Given the description of an element on the screen output the (x, y) to click on. 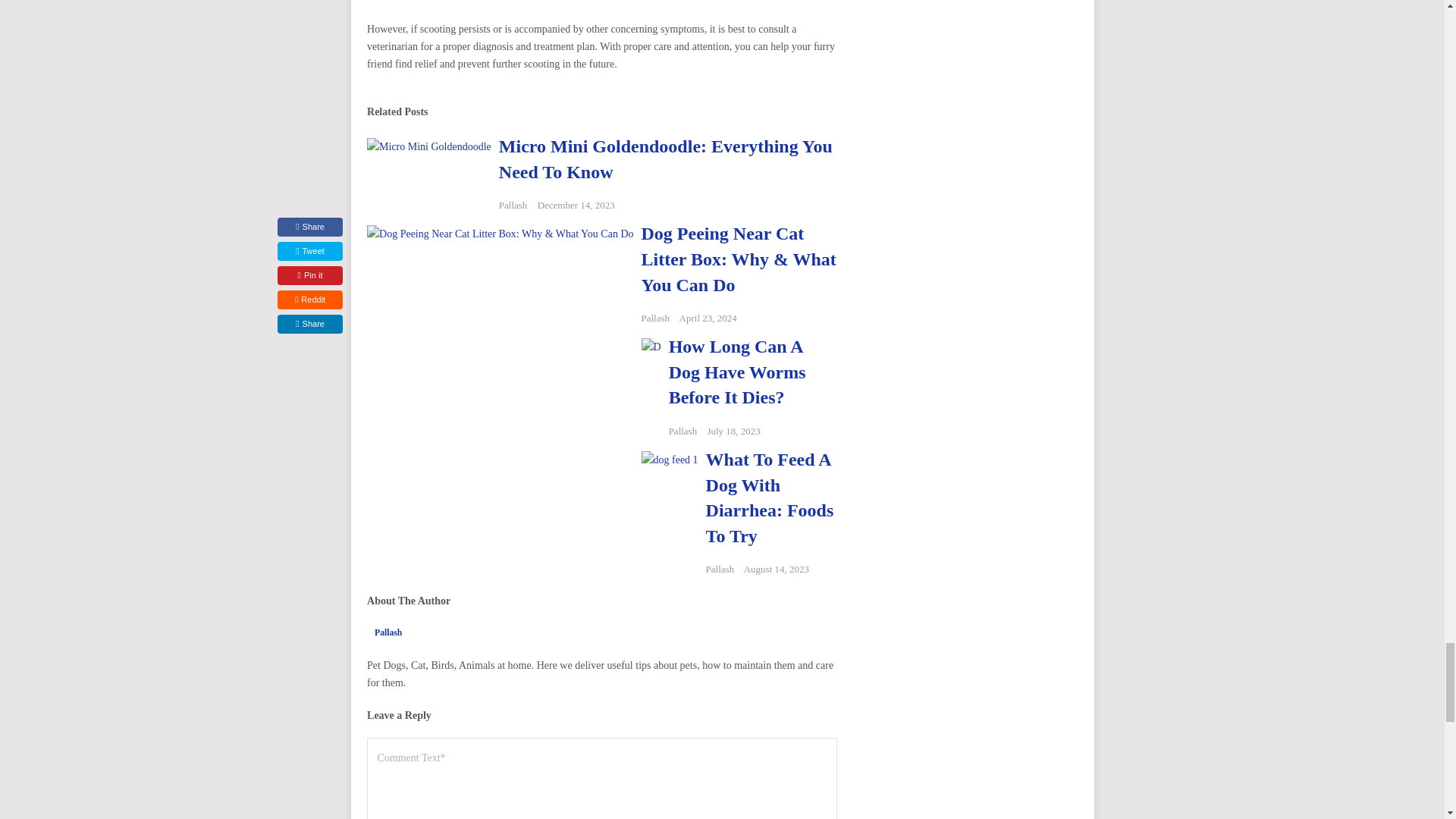
Micro Mini Goldendoodle: Everything You Need To Know 4 (429, 166)
Pallash (655, 317)
Pallash (513, 204)
Micro Mini Goldendoodle: Everything You Need To Know (665, 158)
